Given the description of an element on the screen output the (x, y) to click on. 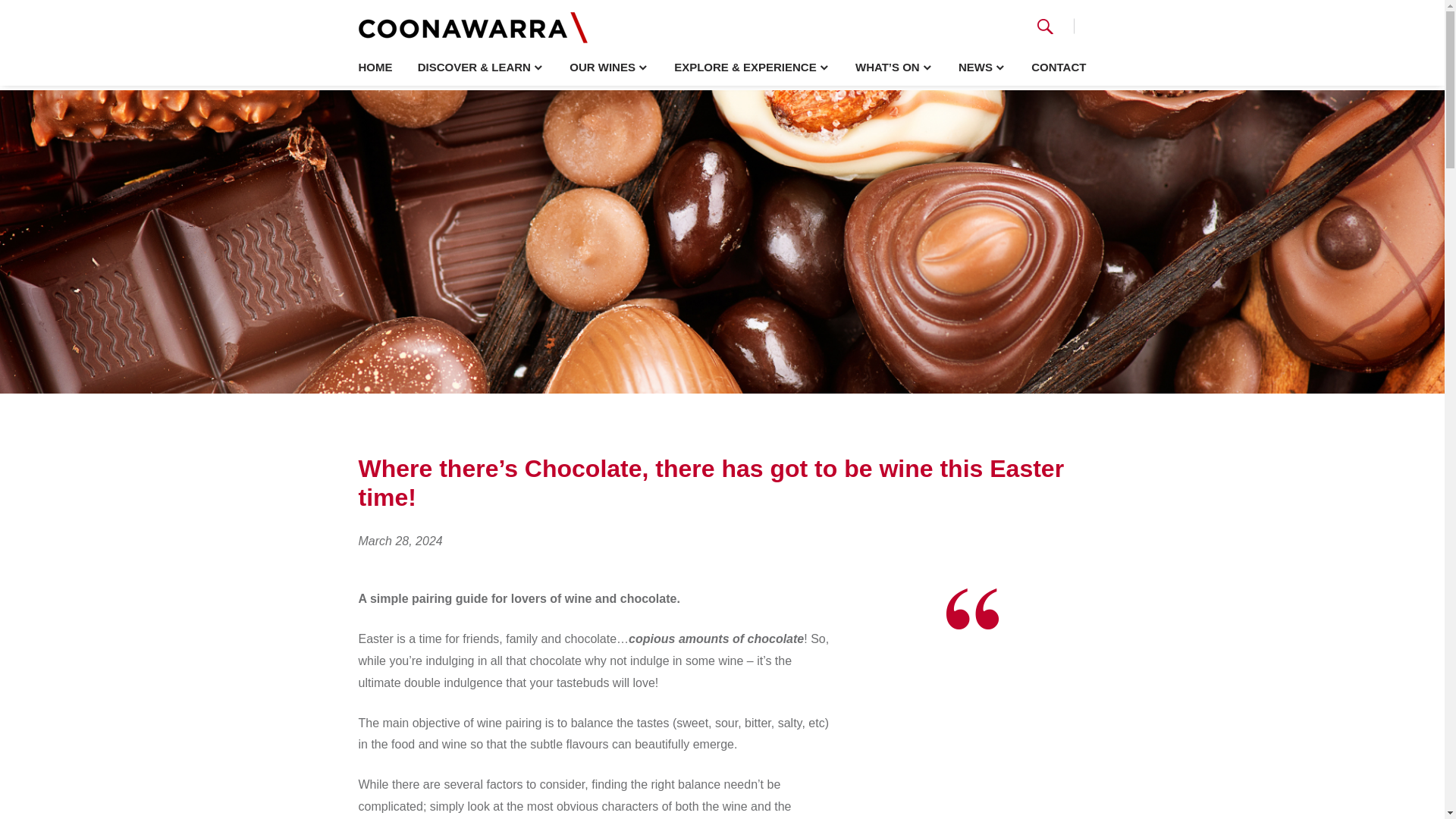
NEWS (982, 67)
OUR WINES (609, 67)
March 28, 2024 (400, 540)
HOME (374, 67)
CONTACT (1058, 67)
